Given the description of an element on the screen output the (x, y) to click on. 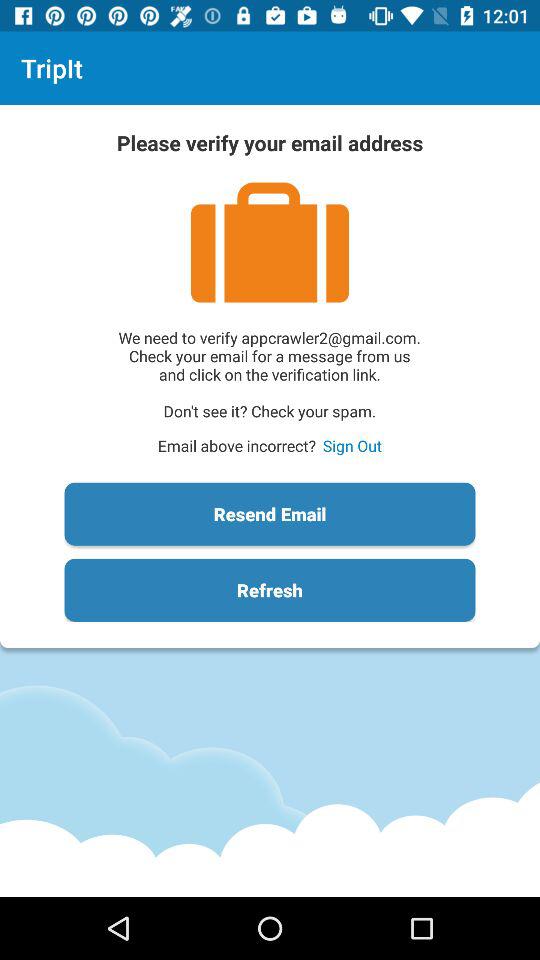
click the refresh icon (269, 589)
